Given the description of an element on the screen output the (x, y) to click on. 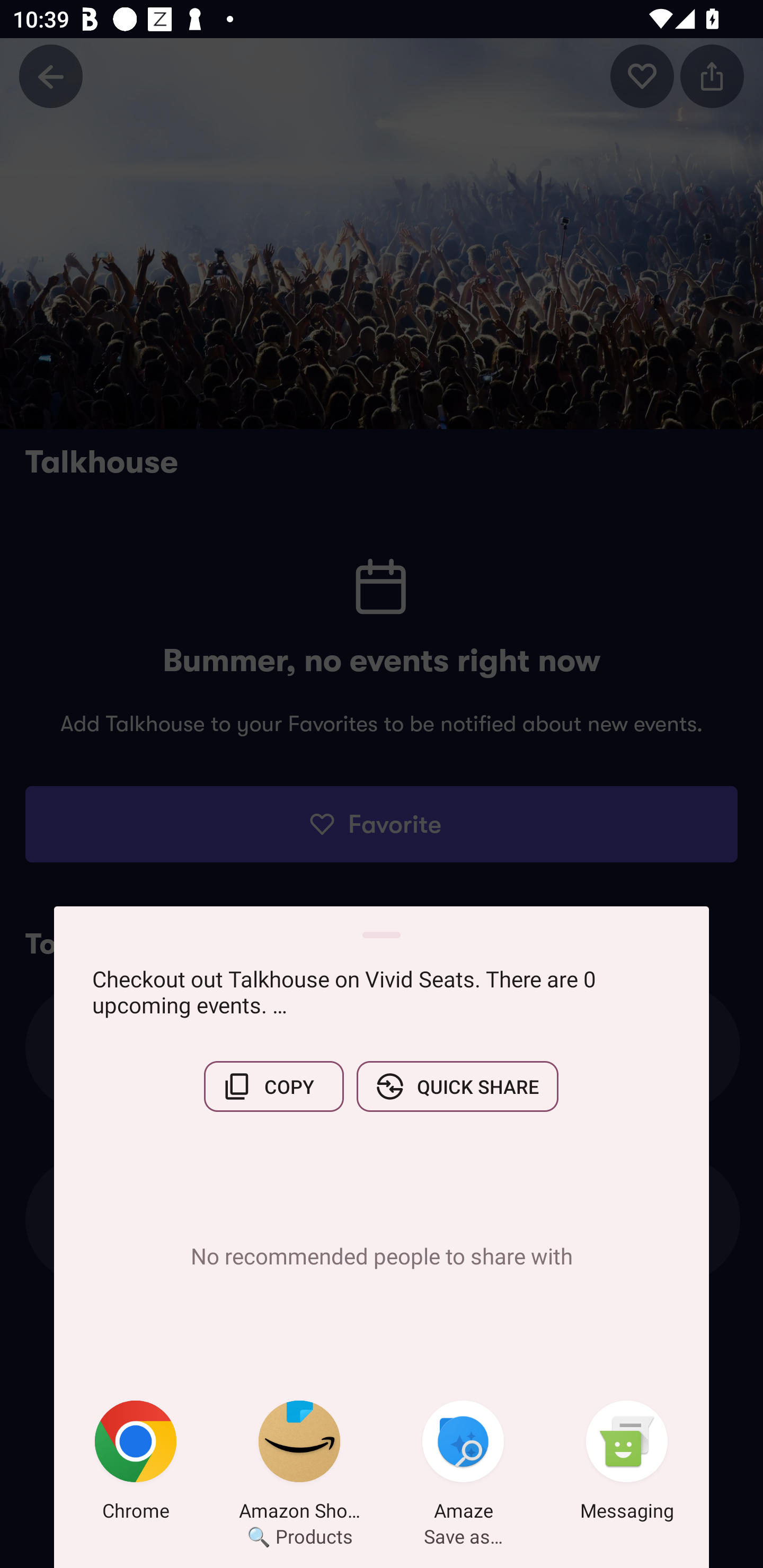
COPY (273, 1086)
QUICK SHARE (457, 1086)
Chrome (135, 1463)
Amazon Shopping 🔍 Products (299, 1463)
Amaze Save as… (463, 1463)
Messaging (626, 1463)
